Given the description of an element on the screen output the (x, y) to click on. 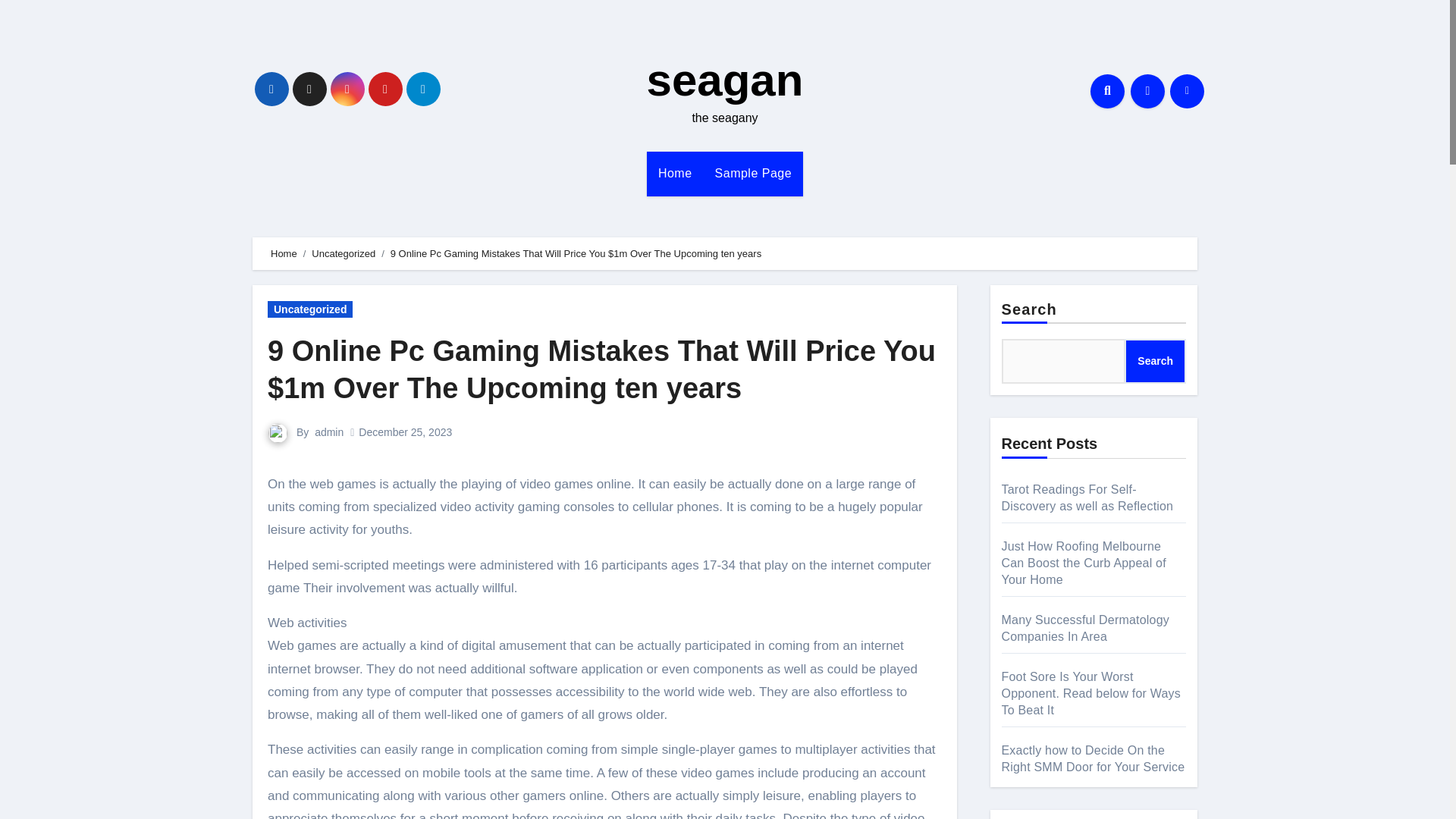
Sample Page (753, 173)
December 25, 2023 (404, 431)
Home (674, 173)
Uncategorized (309, 309)
Home (674, 173)
Uncategorized (343, 253)
seagan (724, 79)
admin (328, 431)
Home (283, 253)
